Given the description of an element on the screen output the (x, y) to click on. 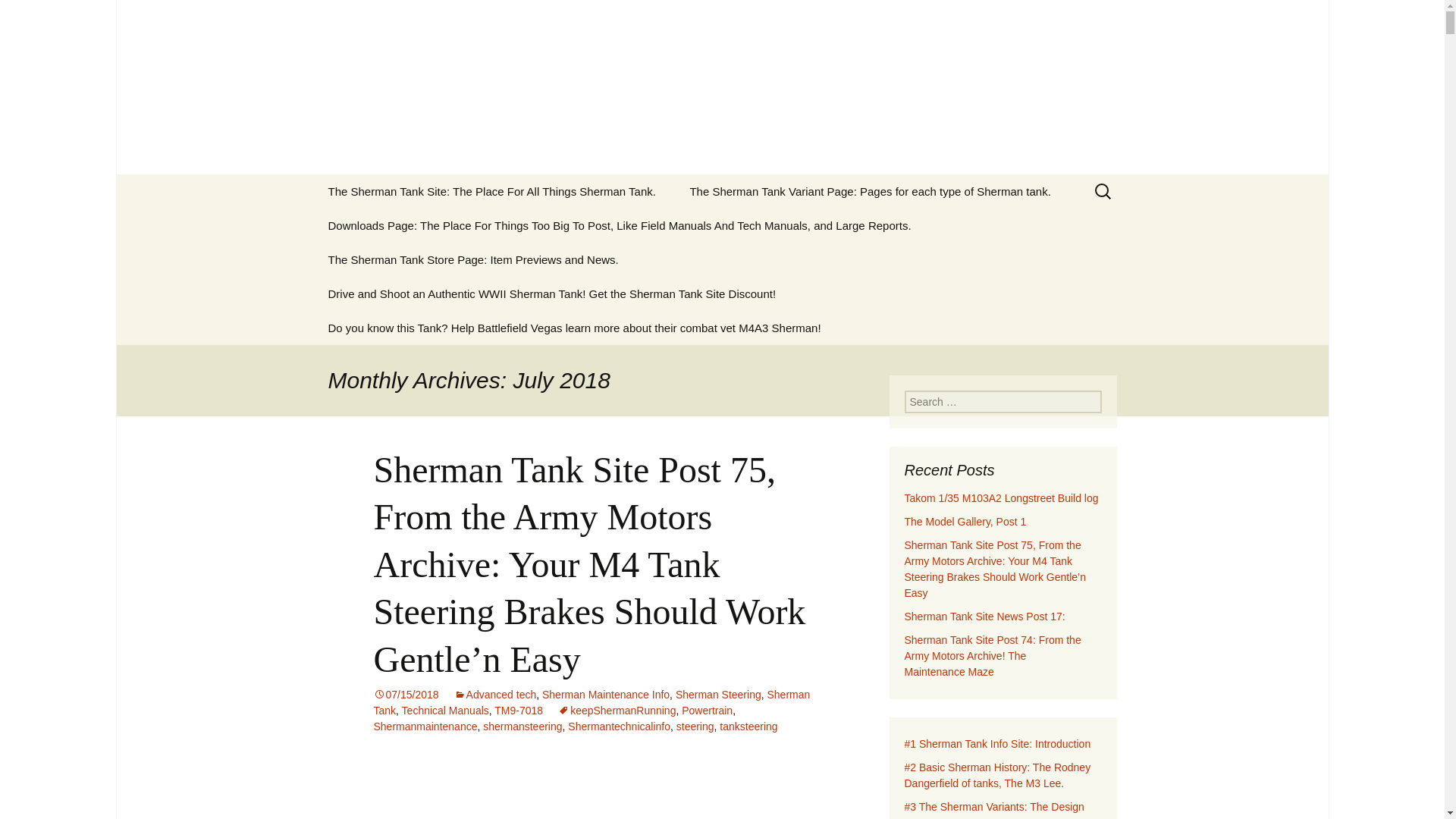
About the Author (388, 225)
